Given the description of an element on the screen output the (x, y) to click on. 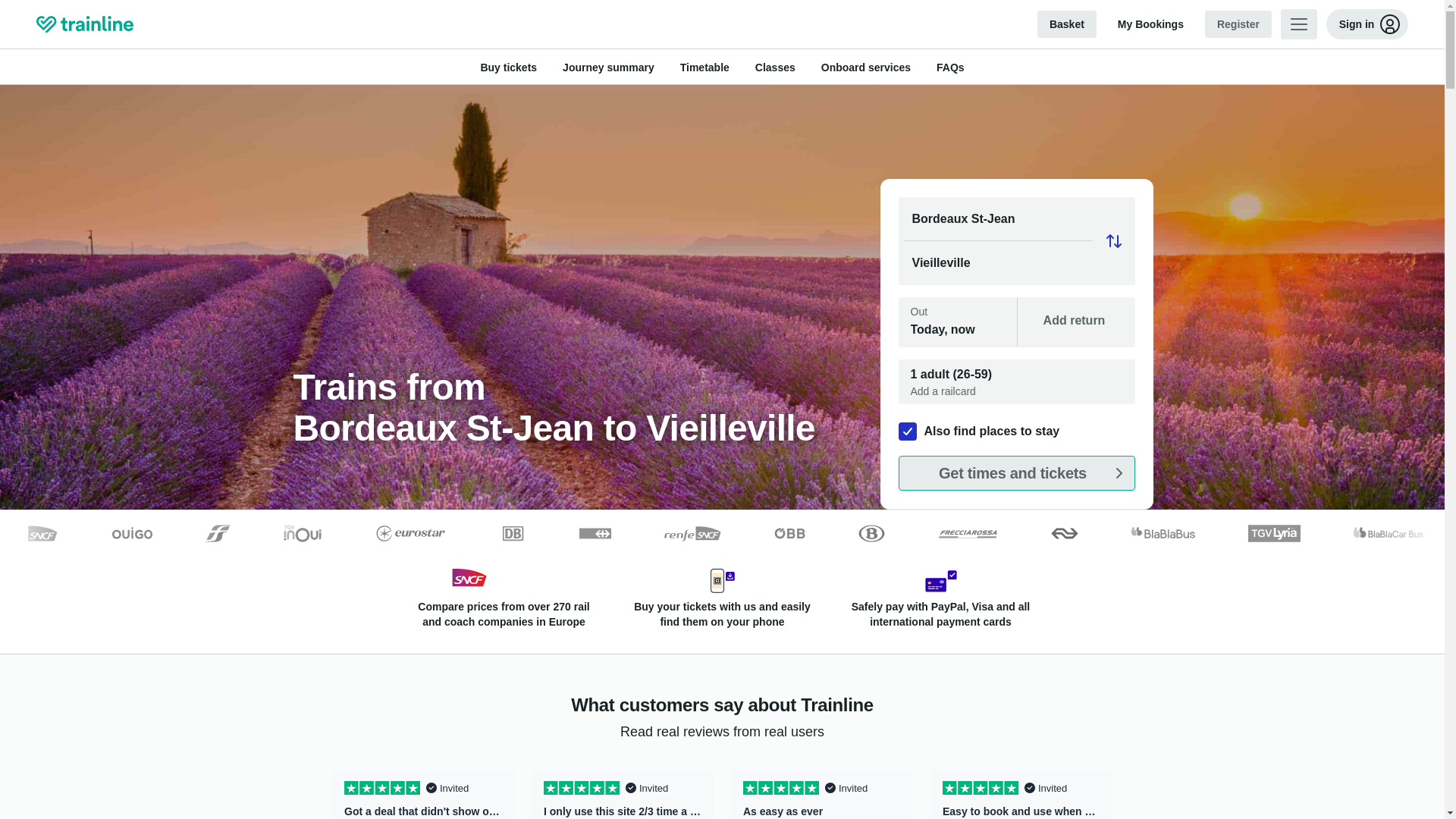
Bordeaux St-Jean (1016, 219)
on (906, 431)
Register (1238, 23)
Swap stations (1113, 240)
Basket (1066, 23)
Select other passengers (1016, 381)
Customer reviews powered by Trustpilot (722, 790)
My Bookings (1150, 23)
SNCF (469, 578)
Vieilleville (1016, 262)
